Given the description of an element on the screen output the (x, y) to click on. 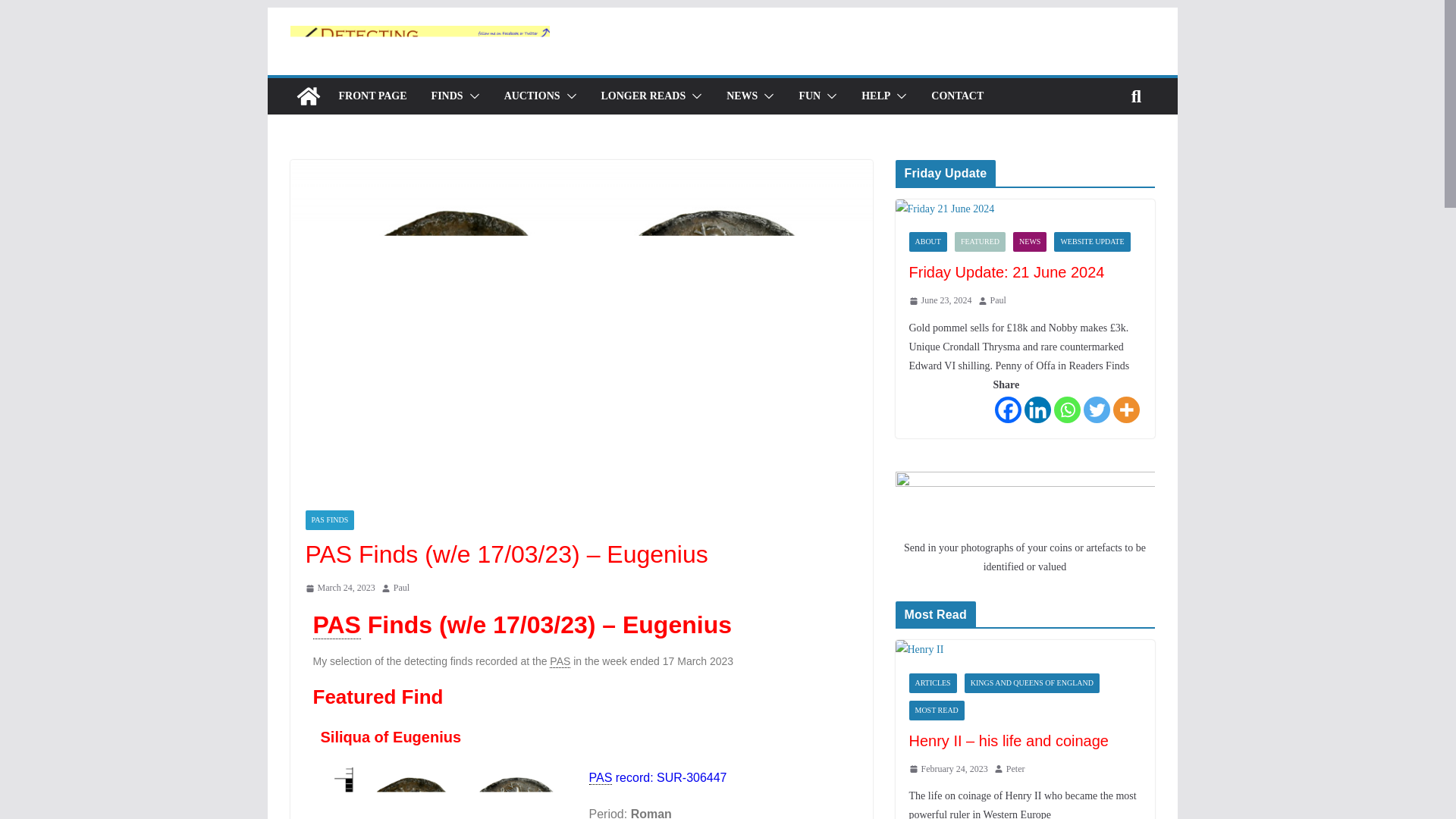
5:50 pm (339, 588)
FUN (809, 96)
HELP (875, 96)
Portable Antiquities Scheme (336, 624)
Portable Antiquities Scheme (560, 661)
PAS record: SUR-306447 (657, 777)
PAS FINDS (328, 519)
LONGER READS (643, 96)
AUCTIONS (531, 96)
CONTACT (957, 96)
FRONT PAGE (371, 96)
Portable Antiquities Scheme (599, 777)
Paul (401, 588)
FINDS (446, 96)
Paul (401, 588)
